Given the description of an element on the screen output the (x, y) to click on. 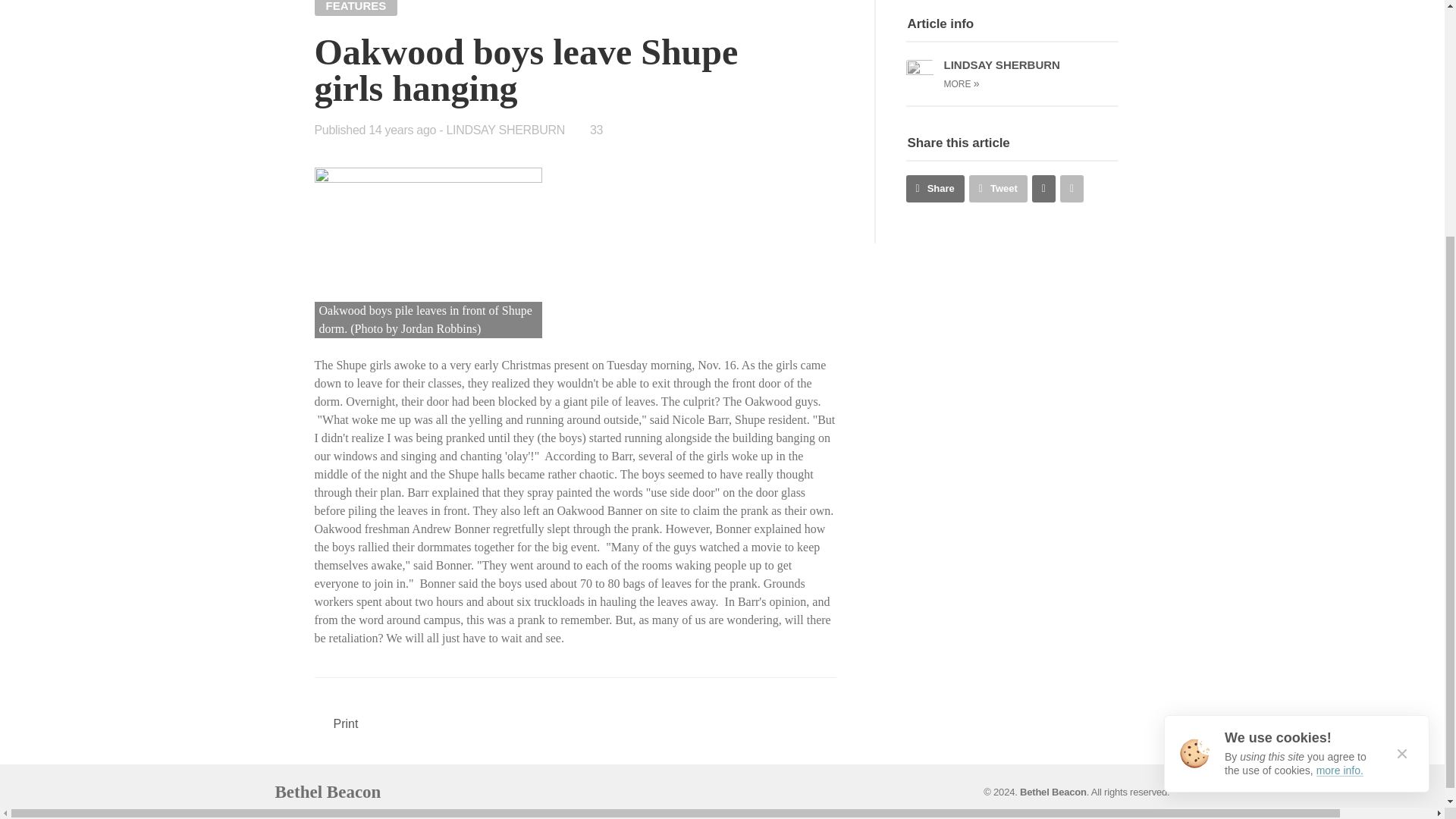
Share (934, 188)
leaves1 (427, 252)
Tweet (998, 188)
LINDSAY SHERBURN (504, 129)
